Given the description of an element on the screen output the (x, y) to click on. 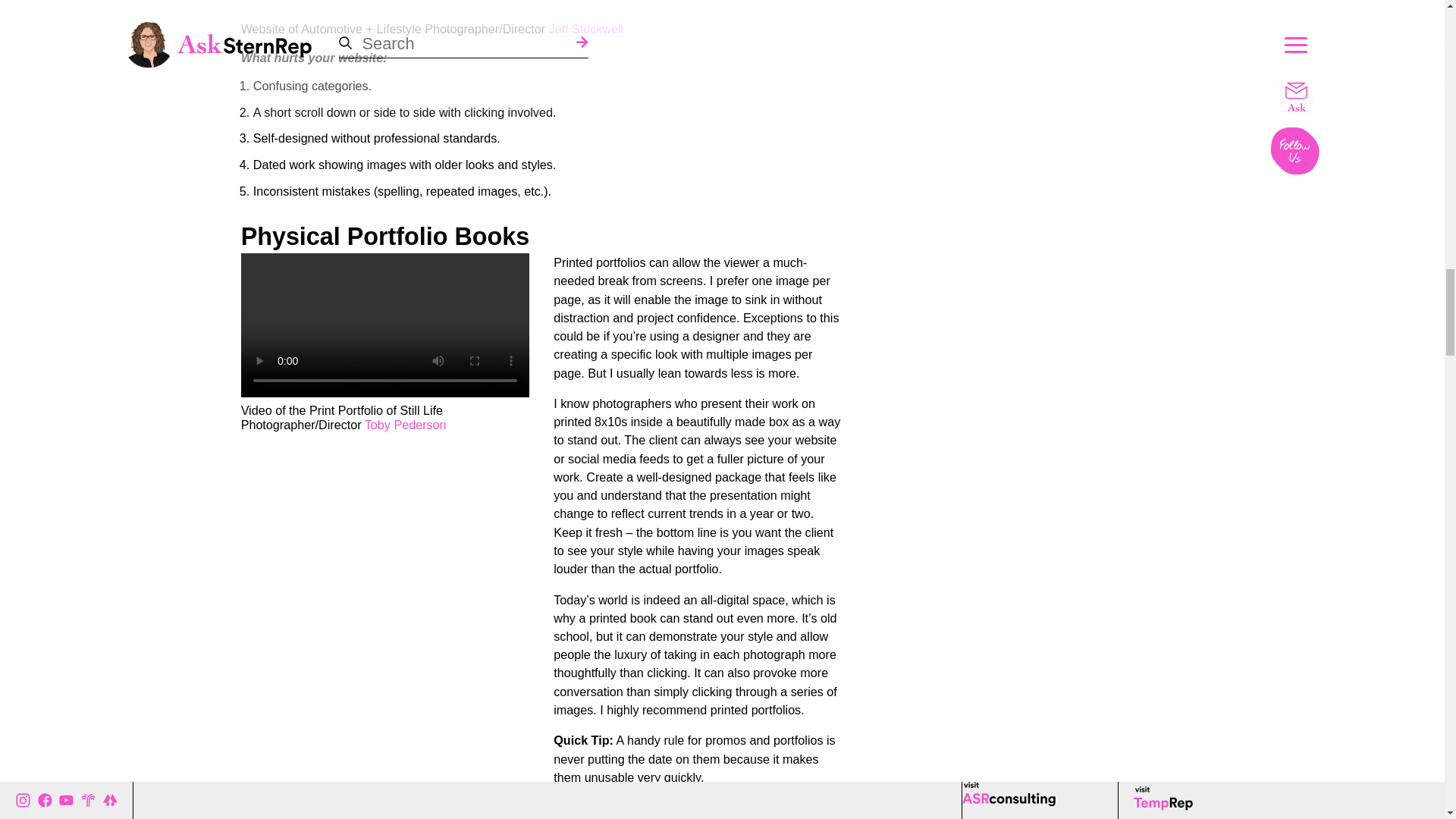
Jeff Stockwell (585, 29)
Toby Pederson (405, 424)
